Given the description of an element on the screen output the (x, y) to click on. 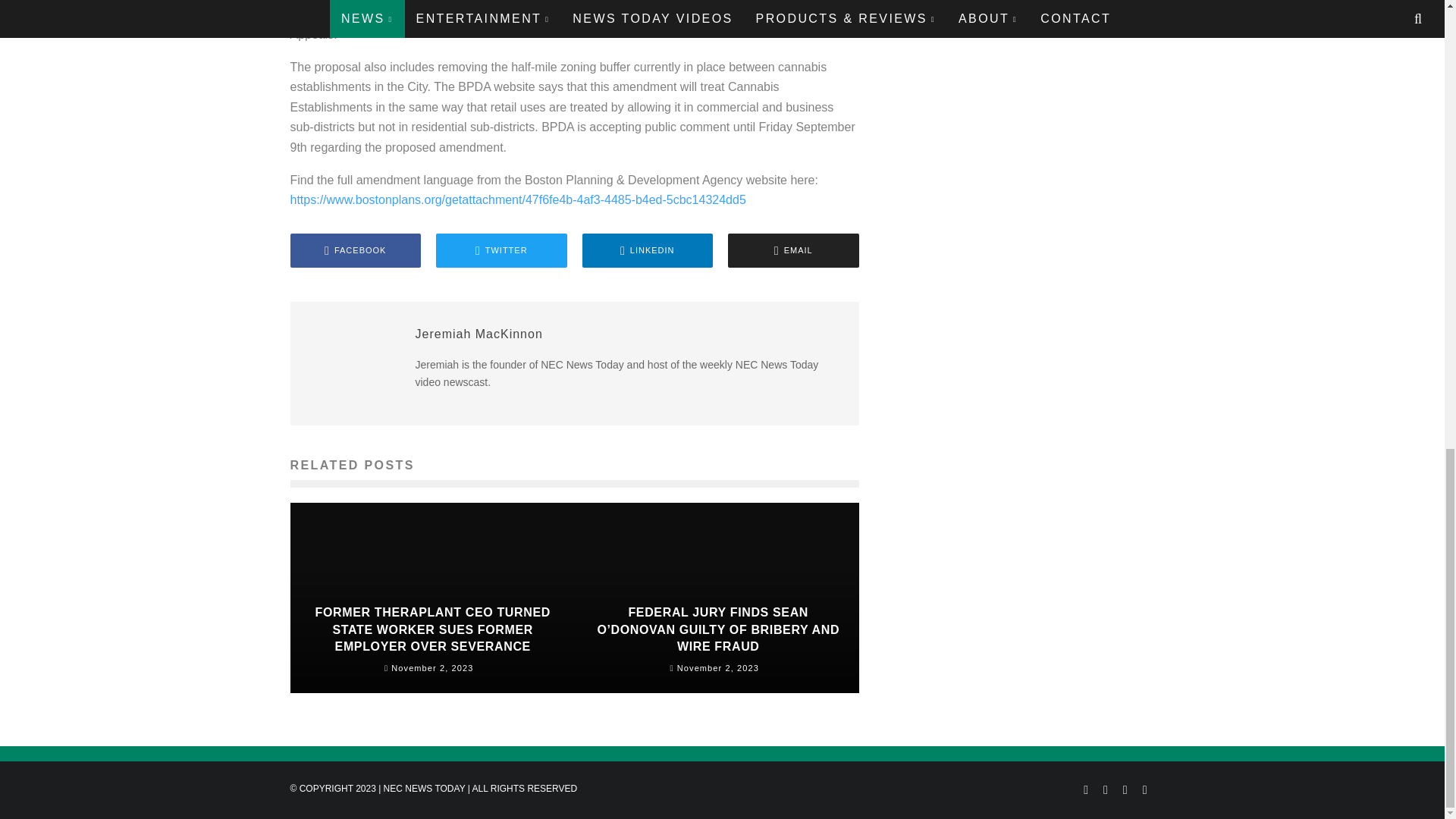
TWITTER (501, 250)
EMAIL (793, 250)
Jeremiah MacKinnon (478, 333)
LINKEDIN (647, 250)
FACEBOOK (354, 250)
